Given the description of an element on the screen output the (x, y) to click on. 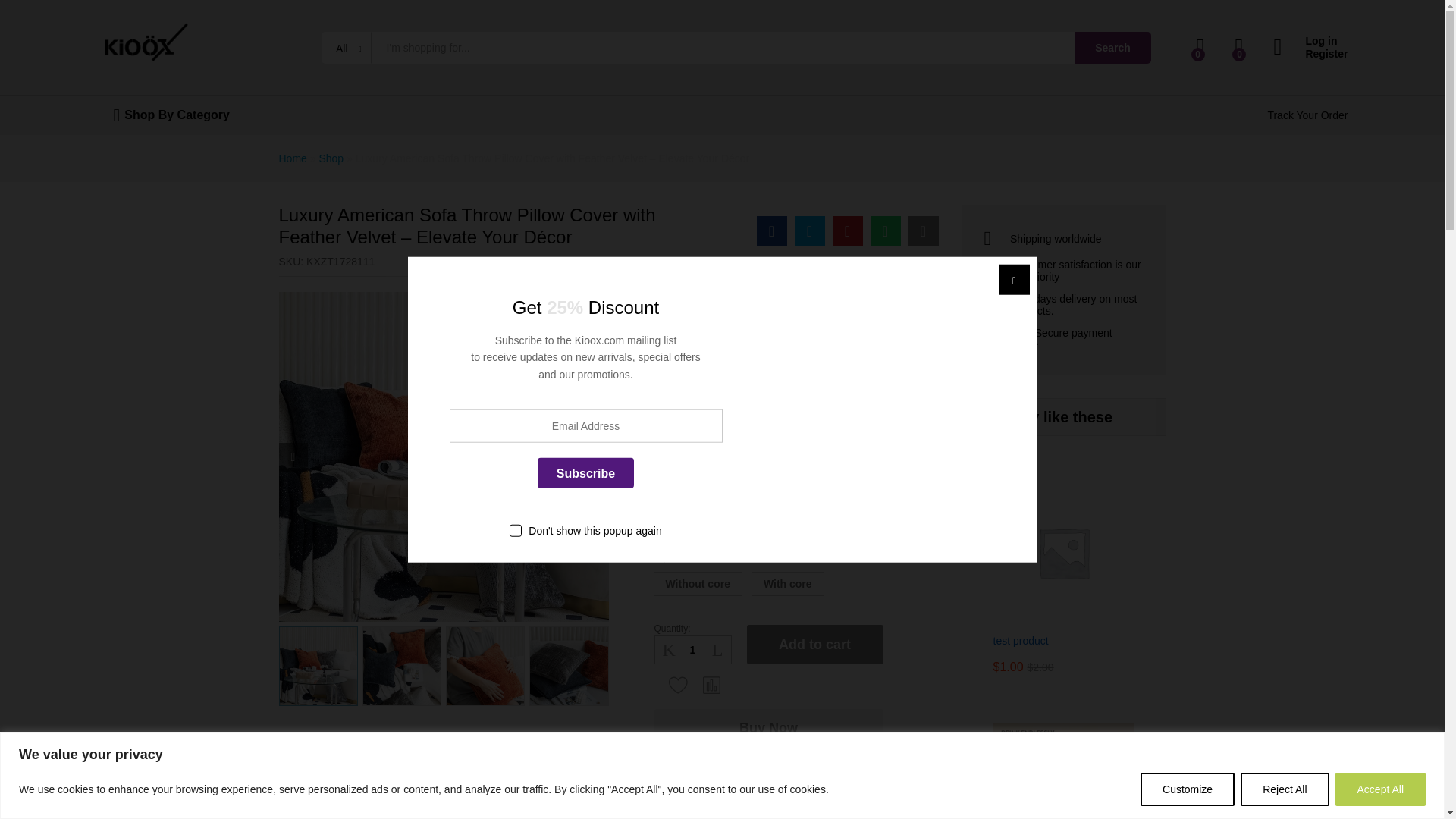
Wishlist (678, 684)
Customize (1187, 788)
Subscribe (585, 472)
Reject All (1283, 788)
1 (692, 649)
Accept All (1380, 788)
Qty (692, 649)
